Given the description of an element on the screen output the (x, y) to click on. 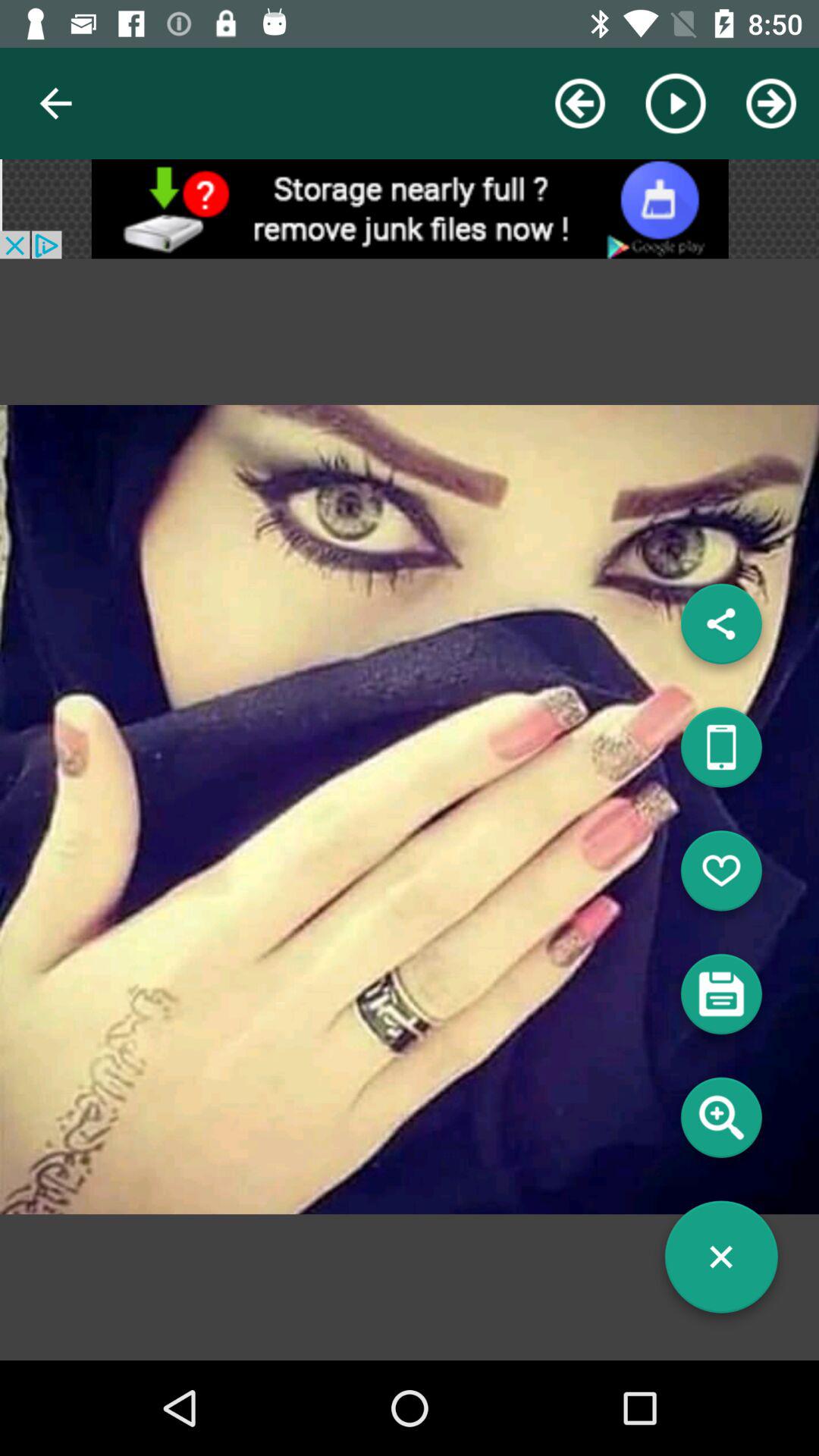
share (721, 629)
